Given the description of an element on the screen output the (x, y) to click on. 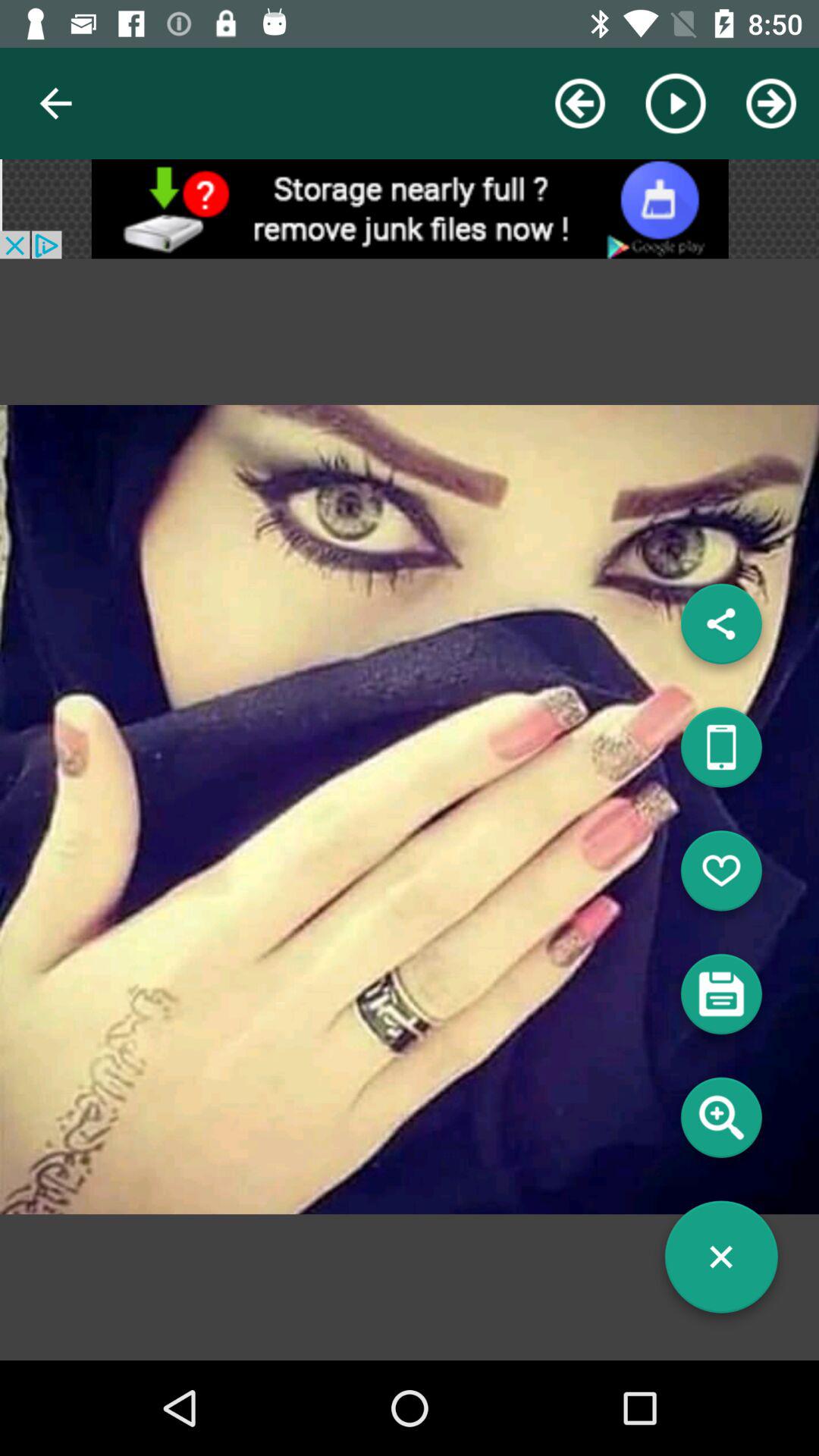
share (721, 629)
